Given the description of an element on the screen output the (x, y) to click on. 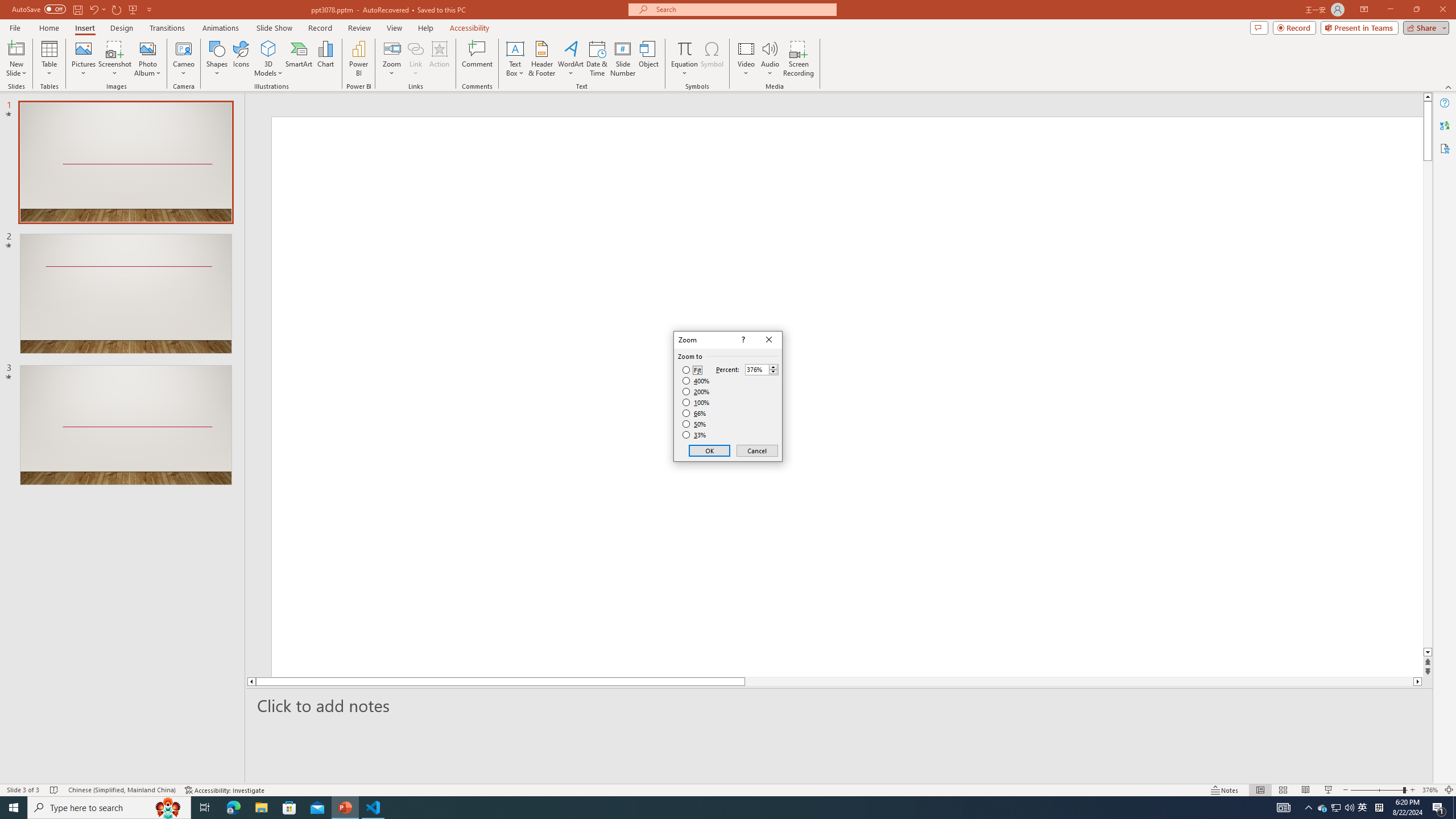
User Promoted Notification Area (1336, 807)
Power BI (358, 58)
Microsoft Edge (233, 807)
Slide Notes (839, 705)
Class: MsoCommandBar (728, 789)
Date & Time... (596, 58)
Chart... (325, 58)
